Given the description of an element on the screen output the (x, y) to click on. 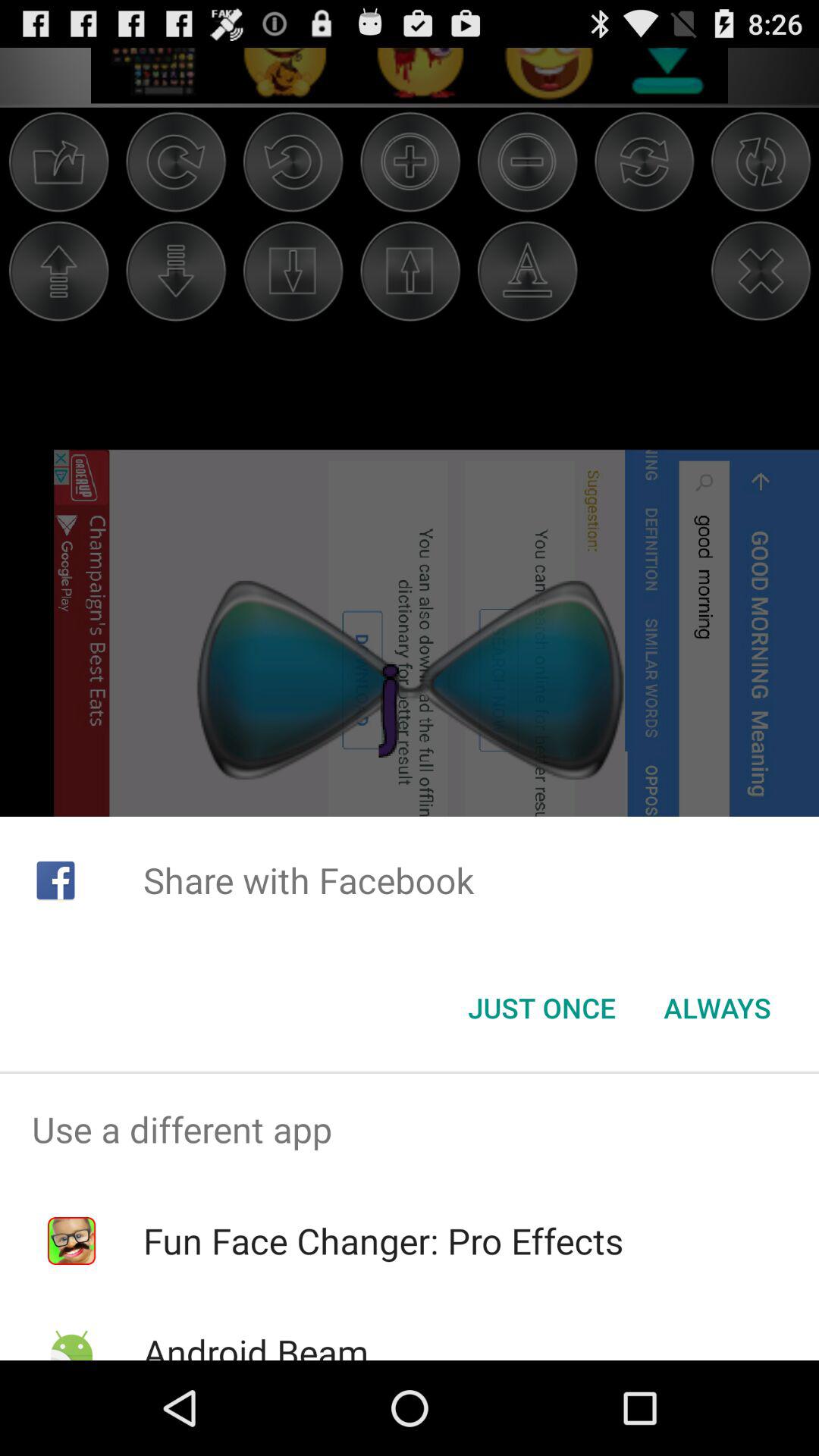
launch just once (541, 1007)
